Given the description of an element on the screen output the (x, y) to click on. 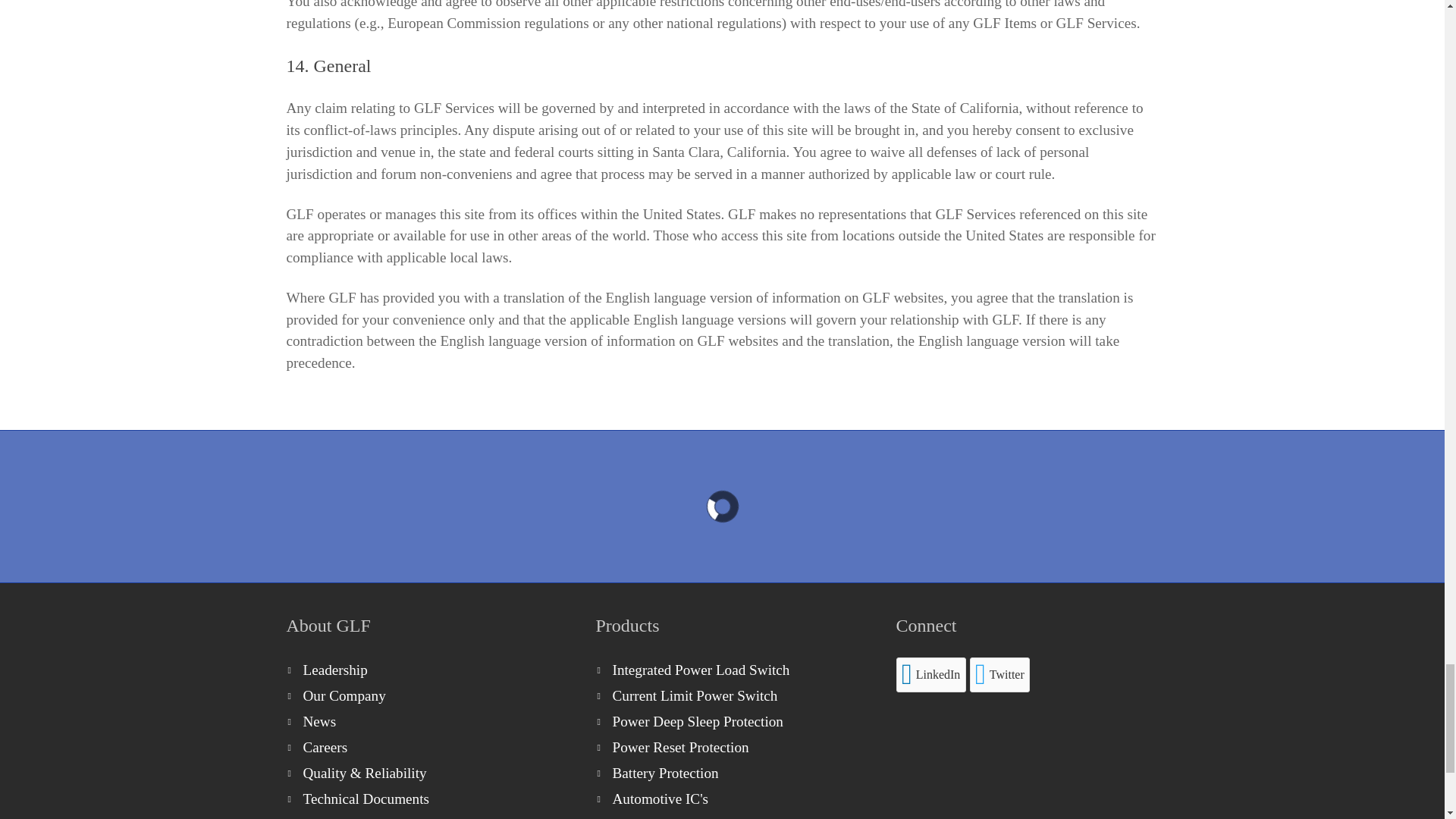
Careers (426, 747)
GLF Integrated Power Twitter (999, 674)
LinkedIn (931, 674)
Leadership (426, 670)
Our Company (426, 696)
News (426, 721)
Request a Sample now (721, 506)
